Given the description of an element on the screen output the (x, y) to click on. 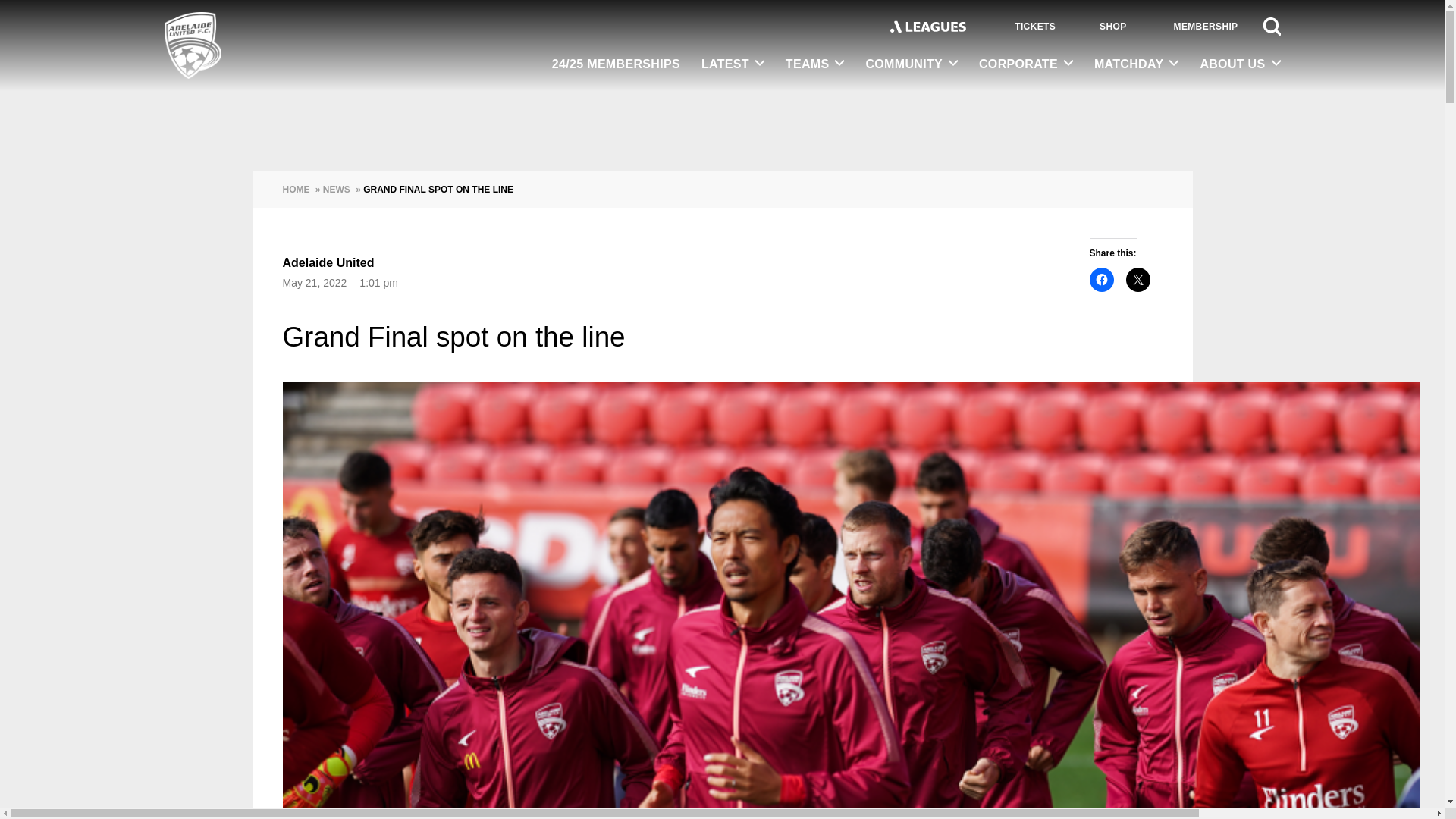
CORPORATE (1025, 64)
TEAMS (815, 64)
Click to share on X (1137, 279)
LATEST (732, 64)
Click to share on Facebook (1101, 279)
COMMUNITY (911, 64)
